Given the description of an element on the screen output the (x, y) to click on. 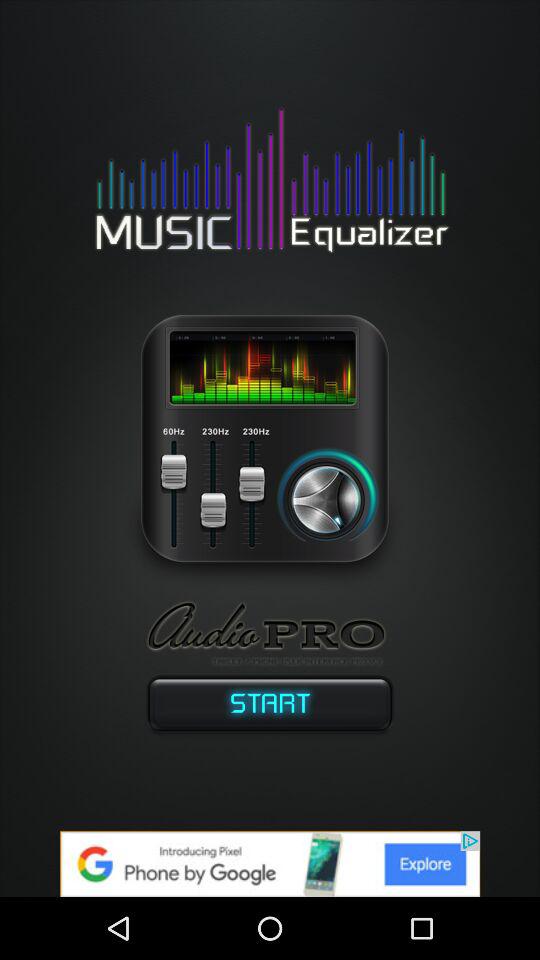
switch start option (270, 707)
